Given the description of an element on the screen output the (x, y) to click on. 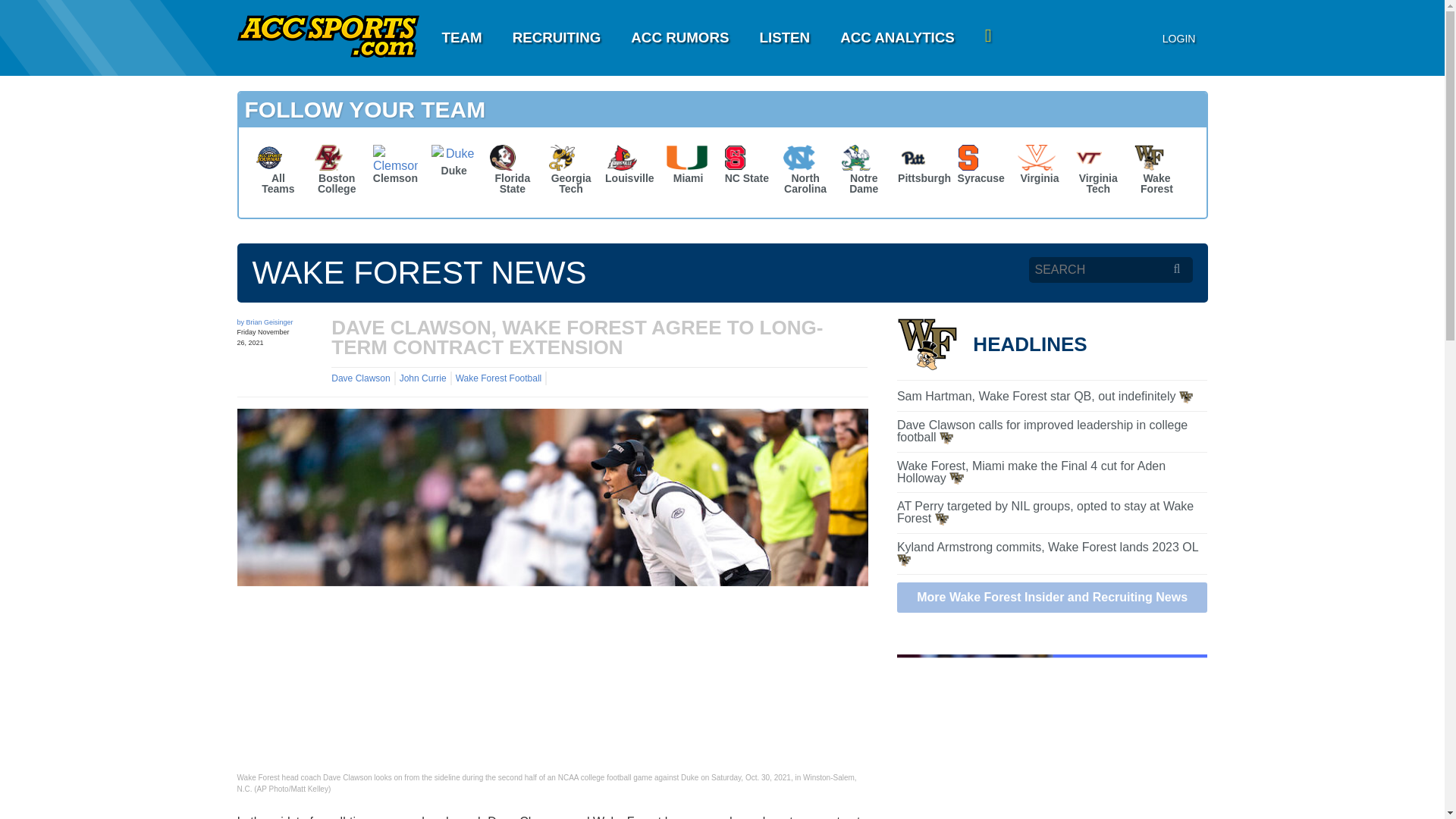
ACC RUMORS (679, 38)
Miami (697, 38)
Pittsburgh (688, 166)
Virginia (922, 166)
Syracuse (1039, 166)
Duke (981, 166)
Louisville (454, 163)
Clemson (629, 166)
NC State (395, 166)
TEAM (746, 166)
RECRUITING (461, 38)
